Given the description of an element on the screen output the (x, y) to click on. 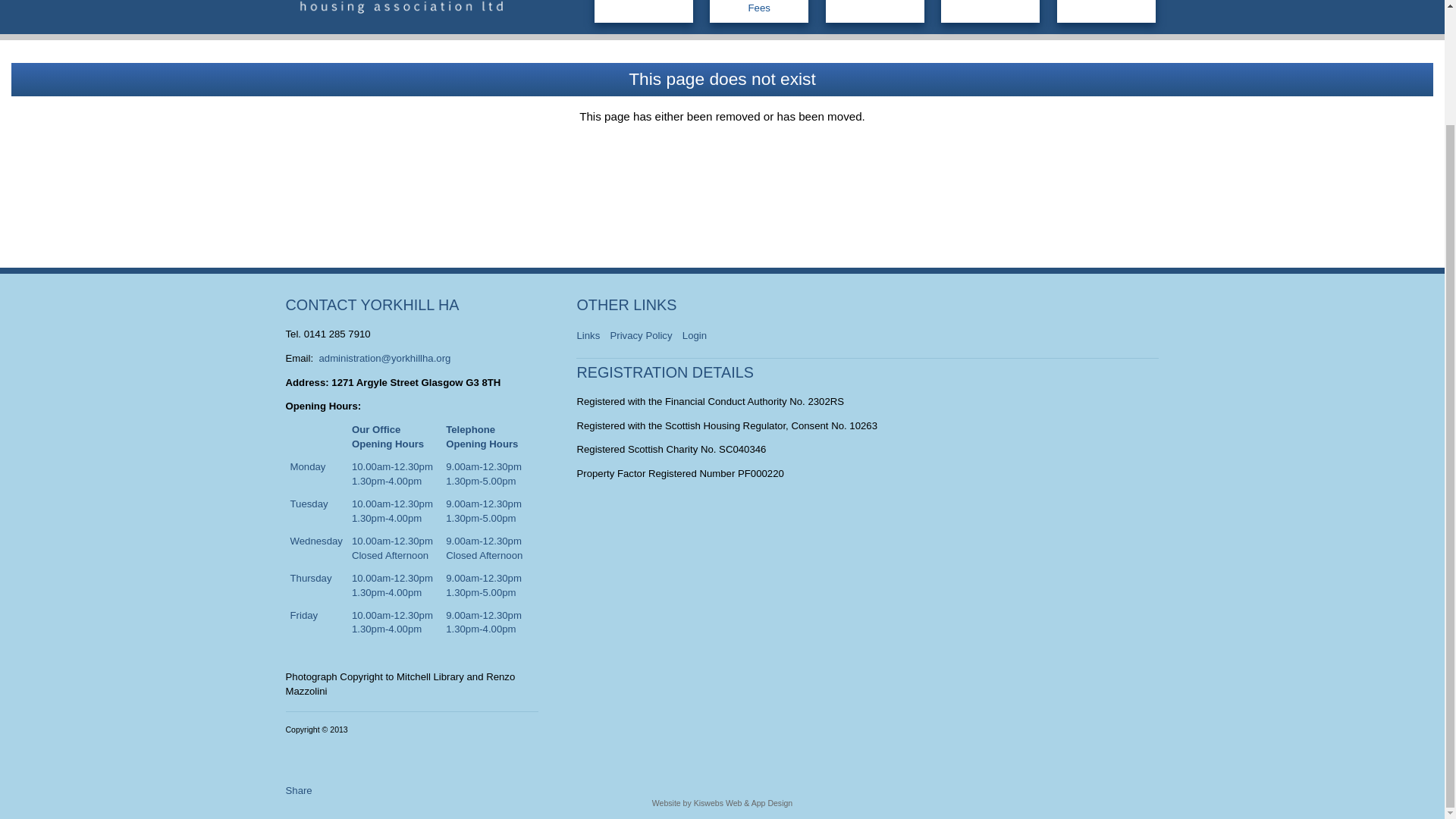
Links (591, 332)
Pay Your Rent (643, 11)
Apply for a House (874, 11)
Complaints (1106, 11)
Login (698, 332)
Report a Repair (989, 11)
Pay your Factoring Fees (759, 11)
Privacy Policy (644, 332)
Share (298, 790)
